Given the description of an element on the screen output the (x, y) to click on. 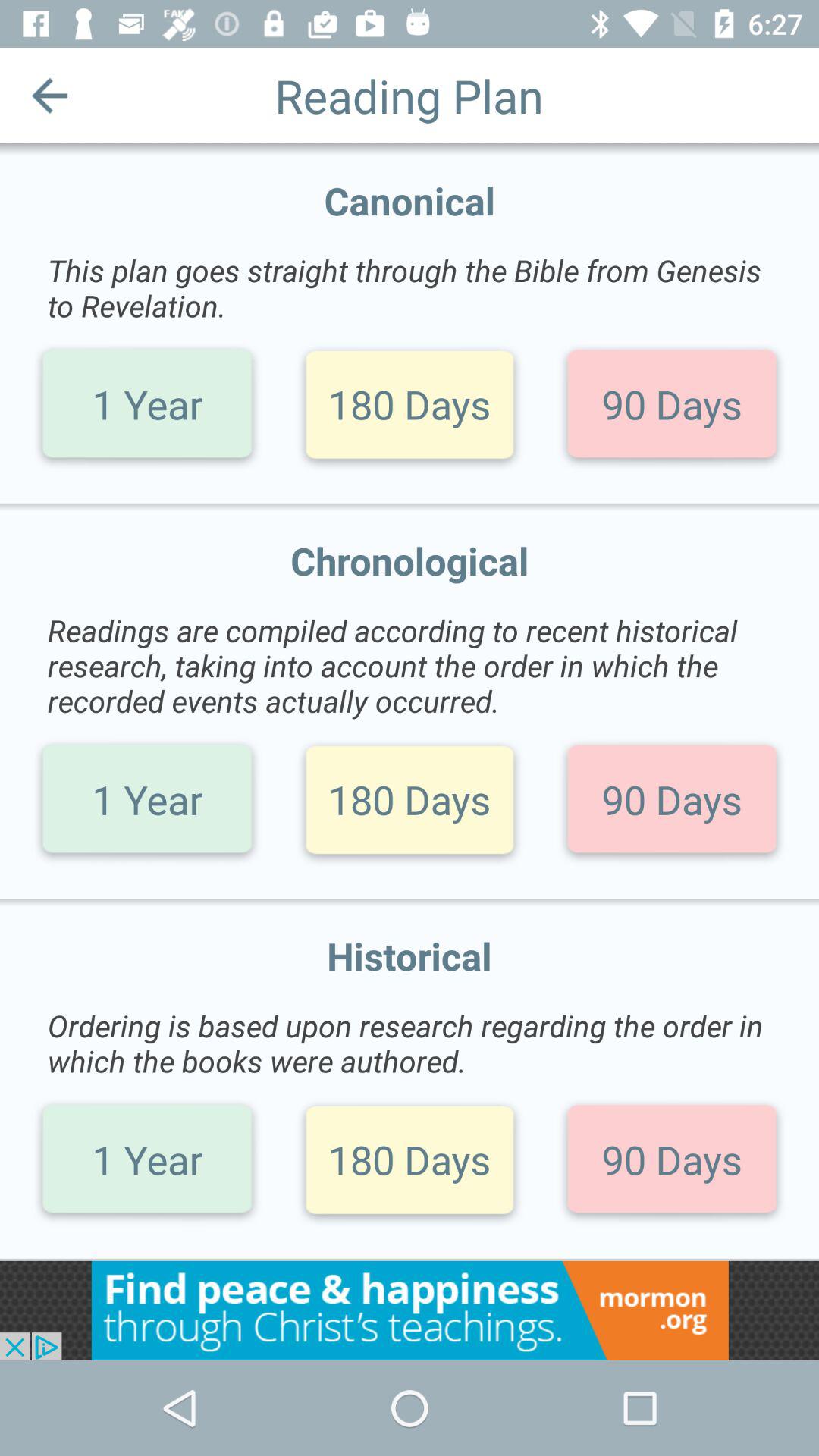
go back (49, 95)
